Given the description of an element on the screen output the (x, y) to click on. 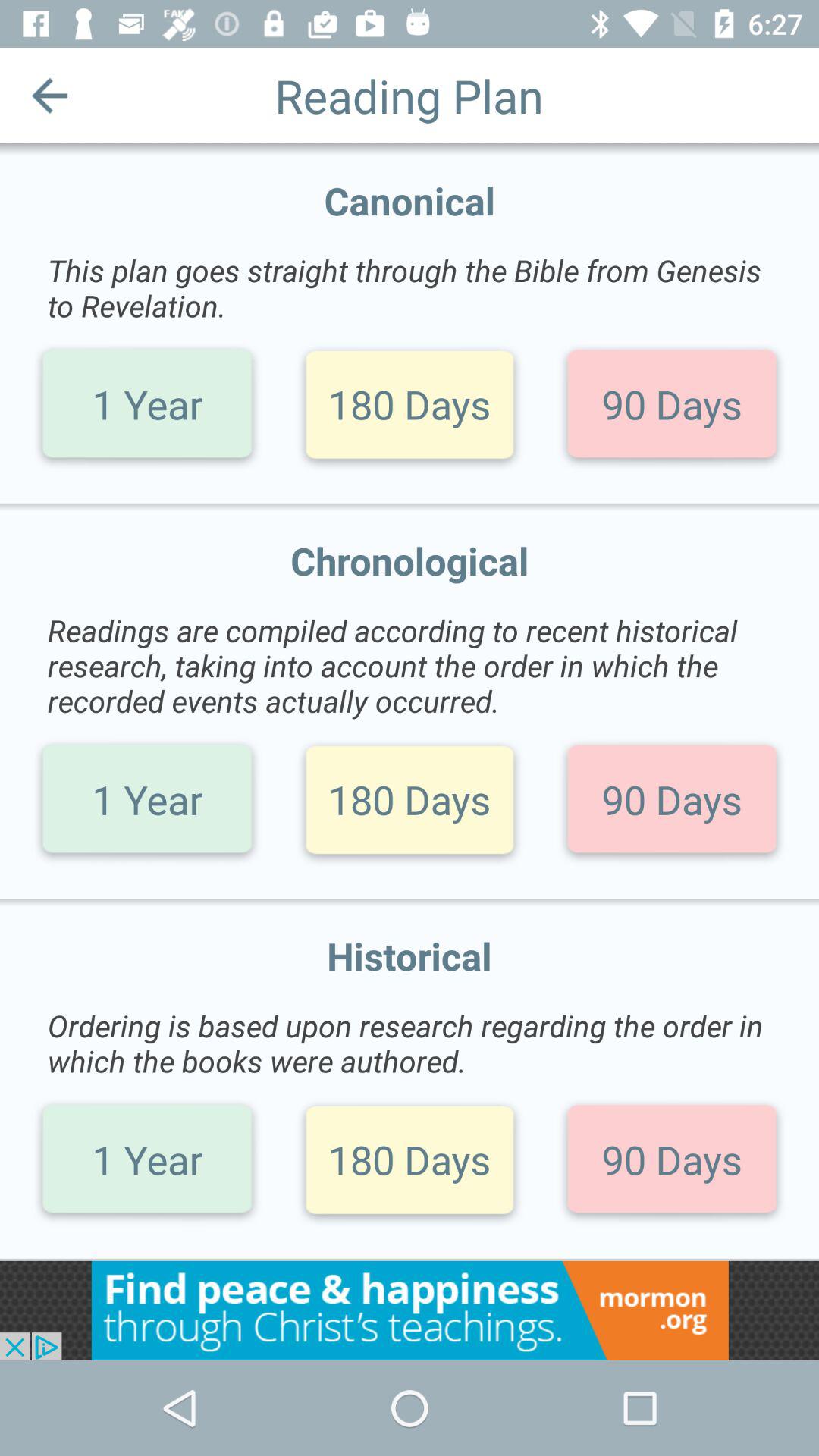
go back (49, 95)
